Given the description of an element on the screen output the (x, y) to click on. 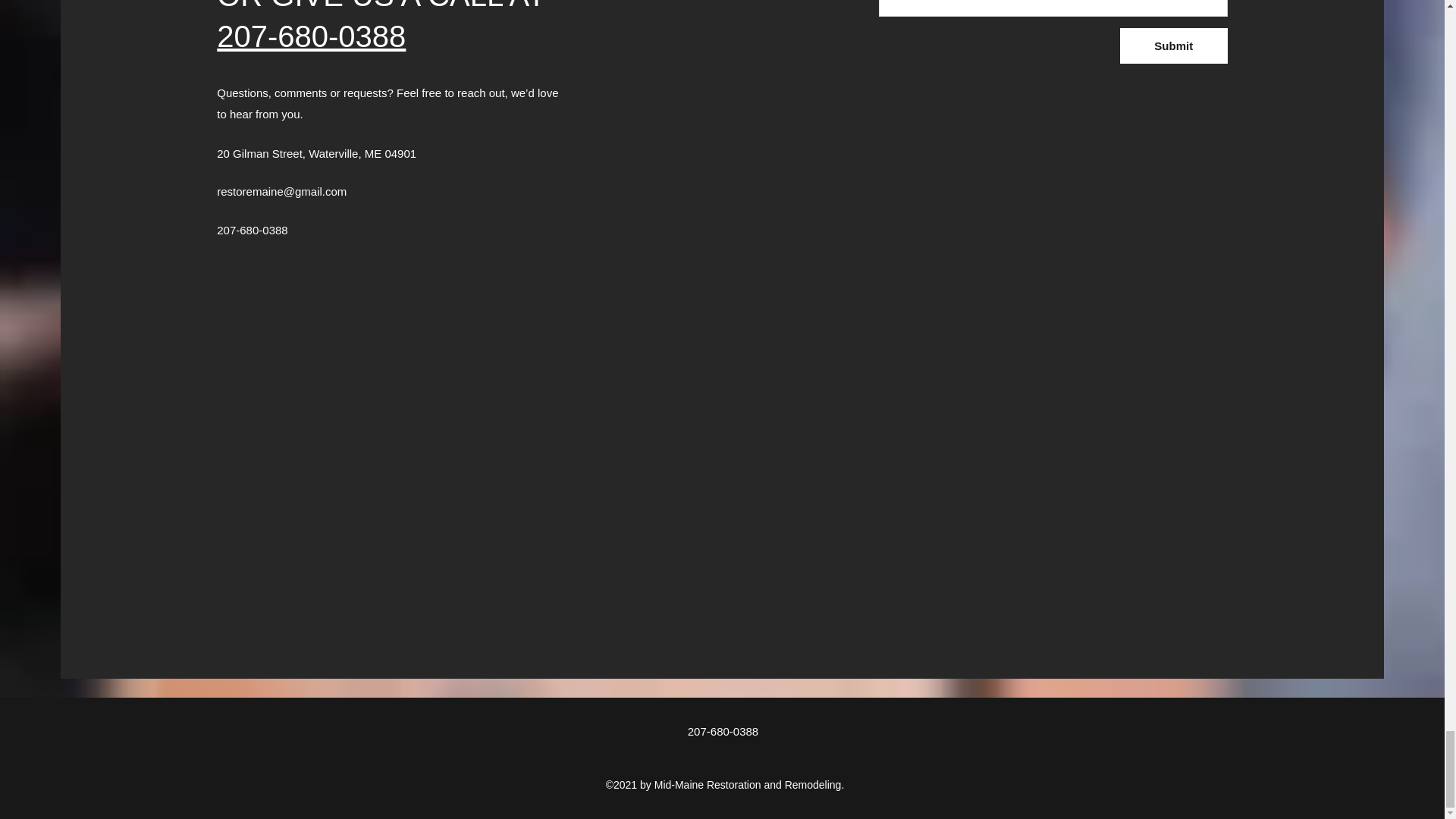
Submit (1173, 45)
207-680-0388 (311, 36)
